Given the description of an element on the screen output the (x, y) to click on. 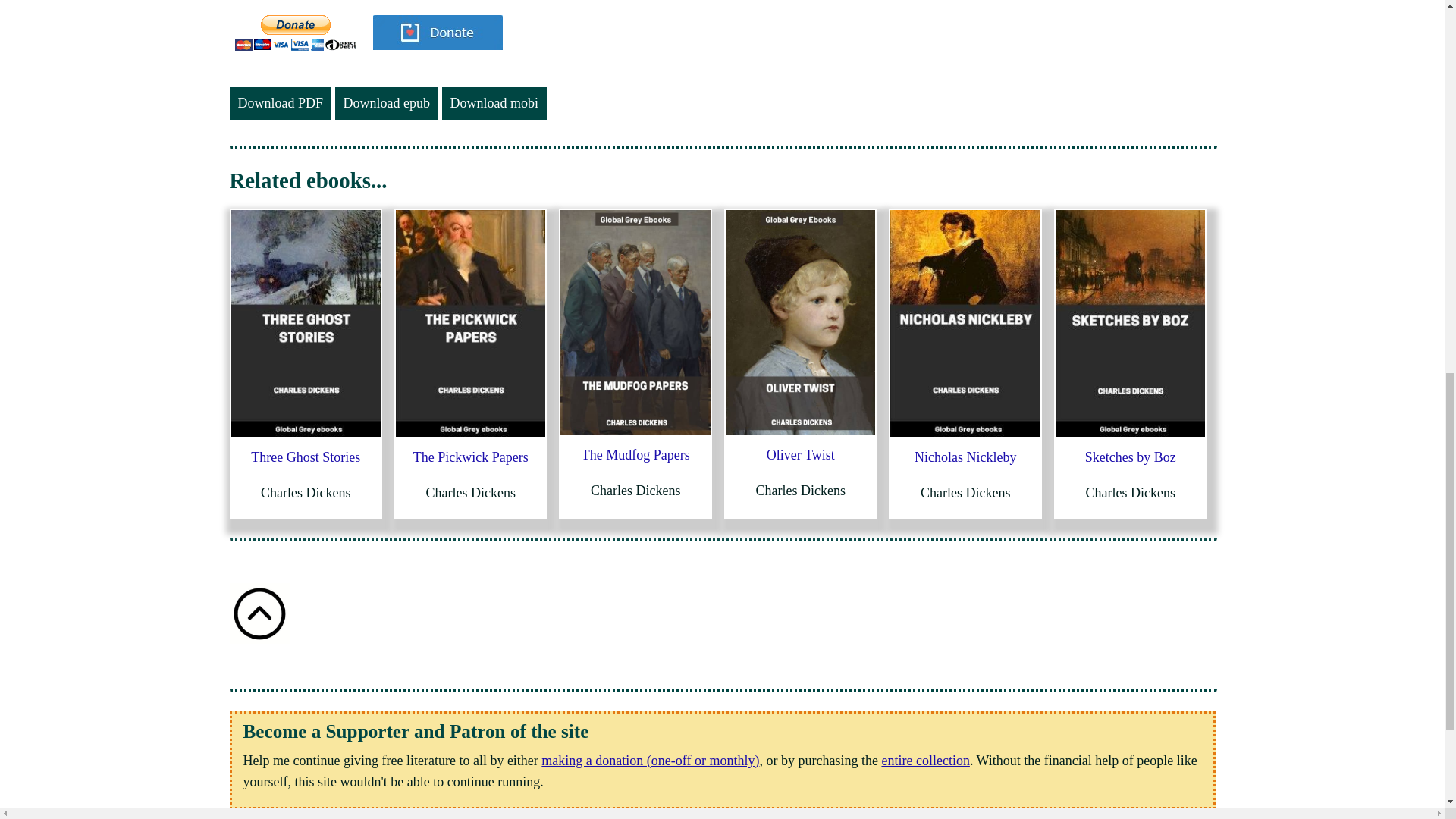
Oliver Twist (800, 454)
The Pickwick Papers (470, 457)
Download mobi (494, 102)
Three Ghost Stories (304, 457)
PayPal - The safer, easier way to pay online! (295, 32)
The Mudfog Papers (635, 454)
Download PDF (279, 102)
Download mobi (494, 102)
Download epub (386, 102)
Download epub (386, 102)
